Given the description of an element on the screen output the (x, y) to click on. 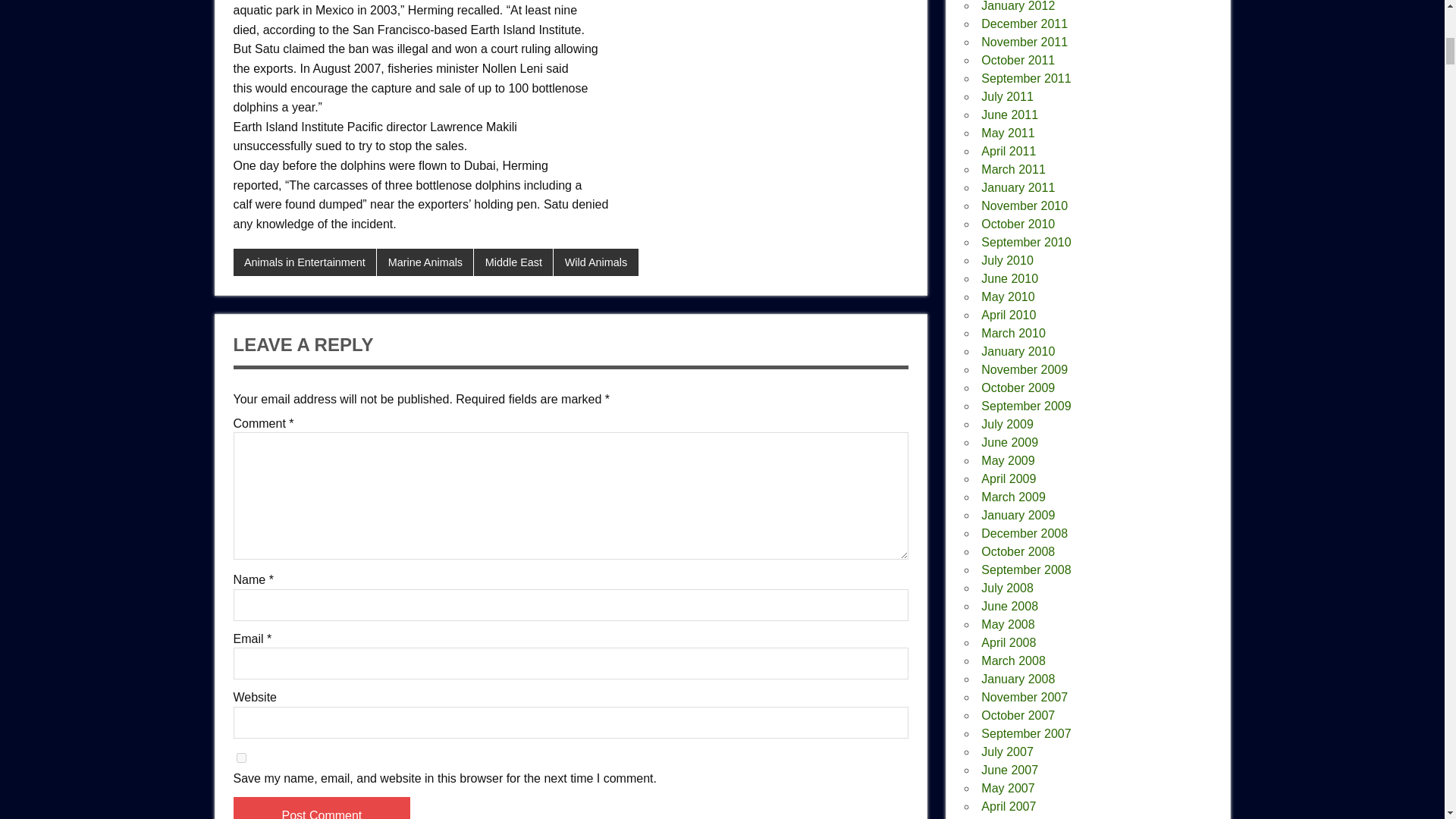
October 2011 (1017, 60)
September 2011 (1025, 78)
Marine Animals (425, 262)
January 2012 (1017, 6)
December 2011 (1024, 23)
Middle East (513, 262)
Post Comment (321, 807)
Animals in Entertainment (304, 262)
Wild Animals (595, 262)
Post Comment (321, 807)
